Given the description of an element on the screen output the (x, y) to click on. 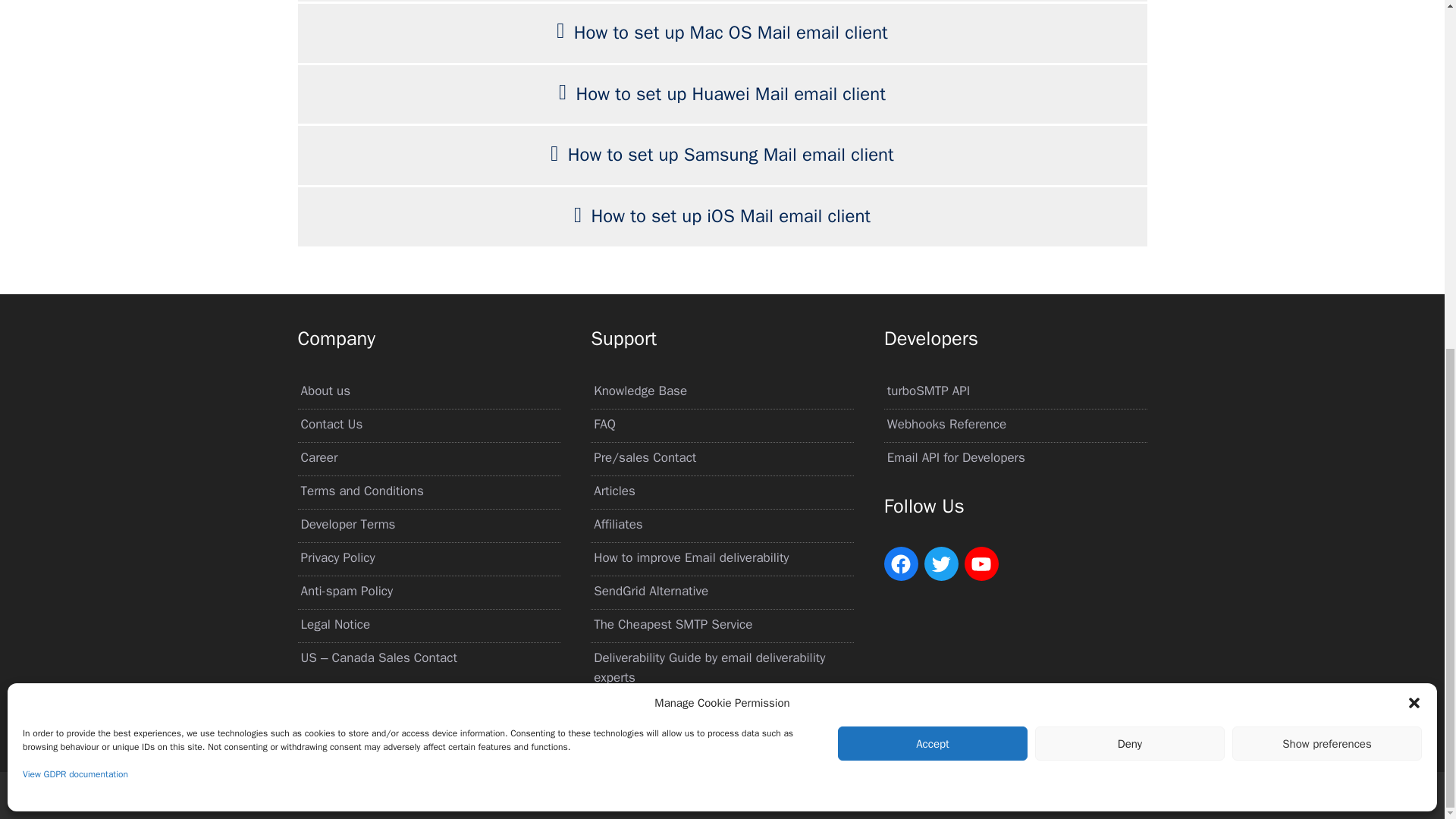
About us (324, 390)
How to set up Mac OS Mail email client (730, 32)
Career (318, 457)
How to set up iOS Mail email client (730, 215)
Terms and Conditions (361, 490)
Contact Us (330, 424)
Privacy Policy (336, 557)
How to set up Samsung Mail email client (730, 154)
Deny (1129, 140)
How to set up Samsung Mail email client (730, 154)
